Given the description of an element on the screen output the (x, y) to click on. 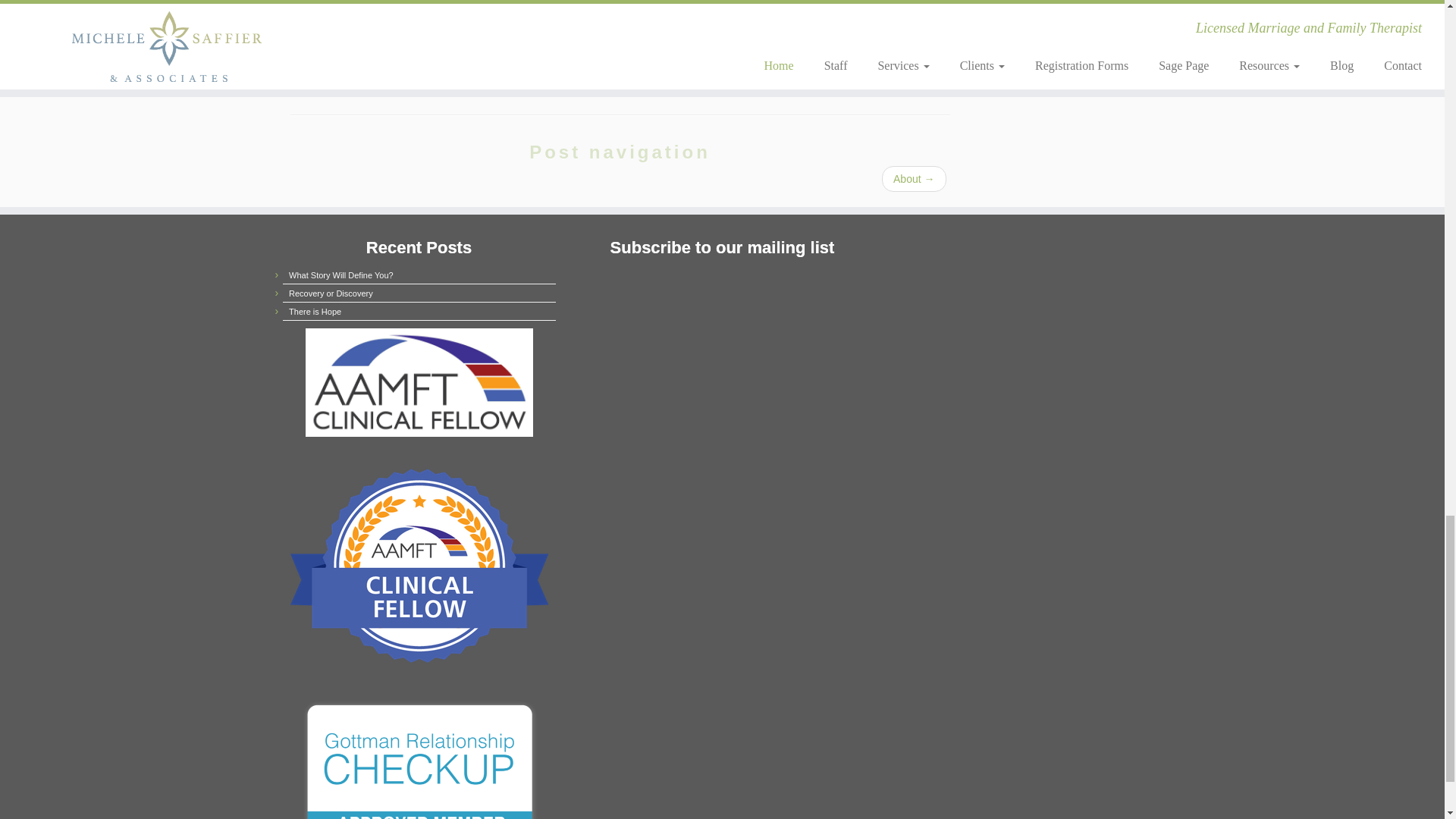
What Story Will Define You? (340, 275)
Recovery or Discovery (330, 293)
